Given the description of an element on the screen output the (x, y) to click on. 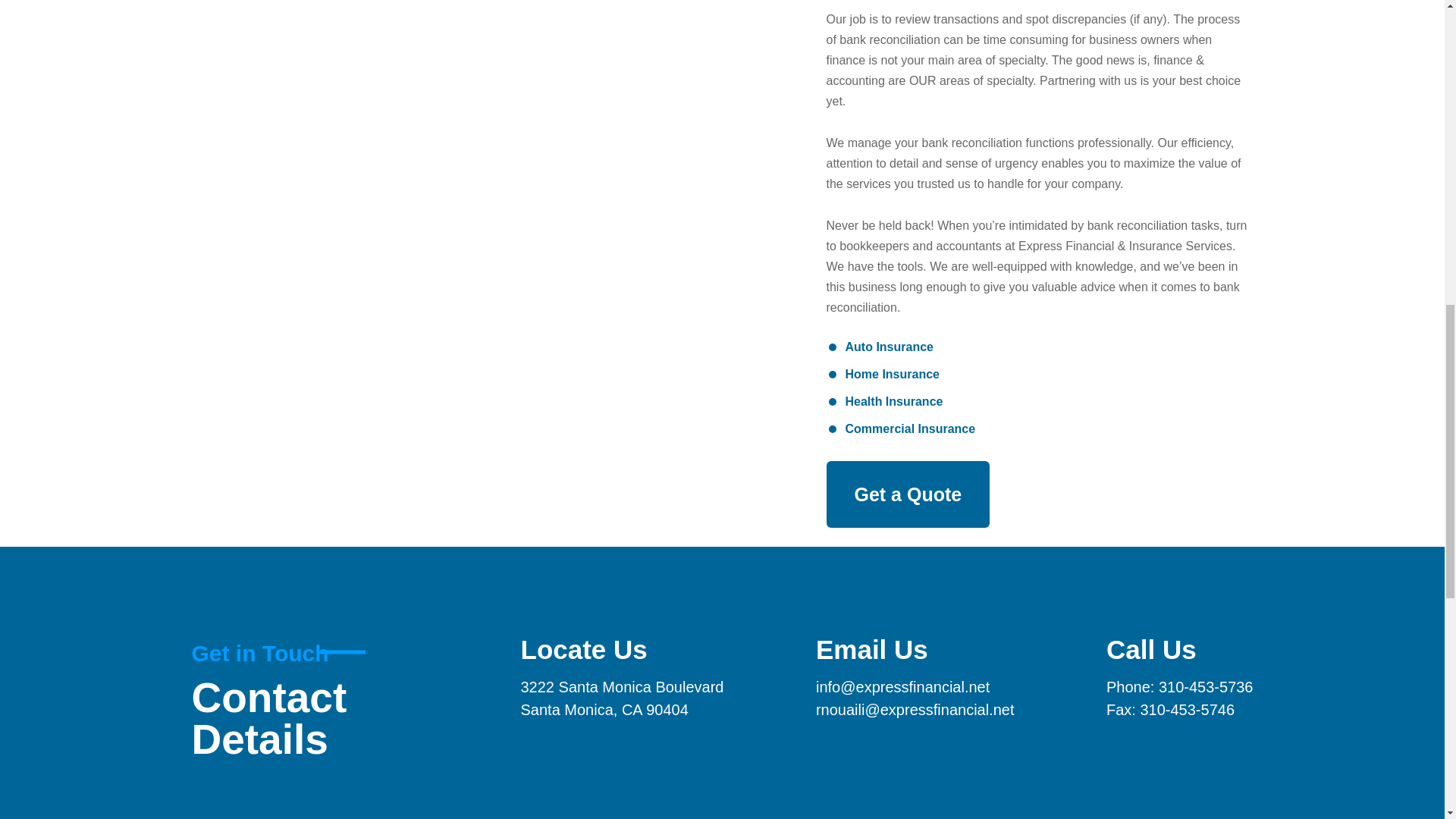
Commercial Insurance (909, 428)
Get a Quote (908, 494)
Health Insurance (893, 401)
Auto Insurance (888, 346)
Home Insurance (891, 373)
